Given the description of an element on the screen output the (x, y) to click on. 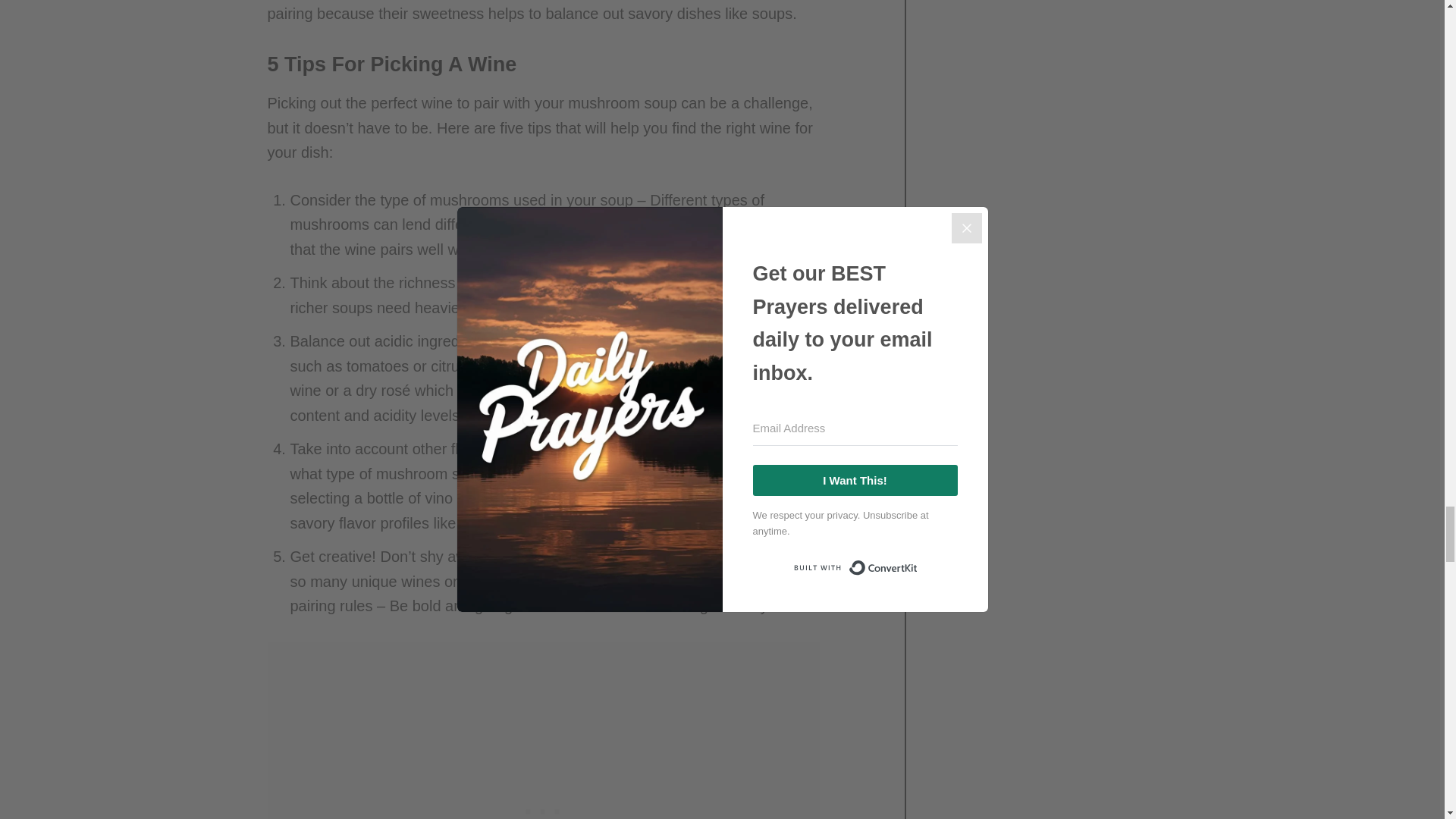
bacon (481, 523)
bacon (481, 523)
